Given the description of an element on the screen output the (x, y) to click on. 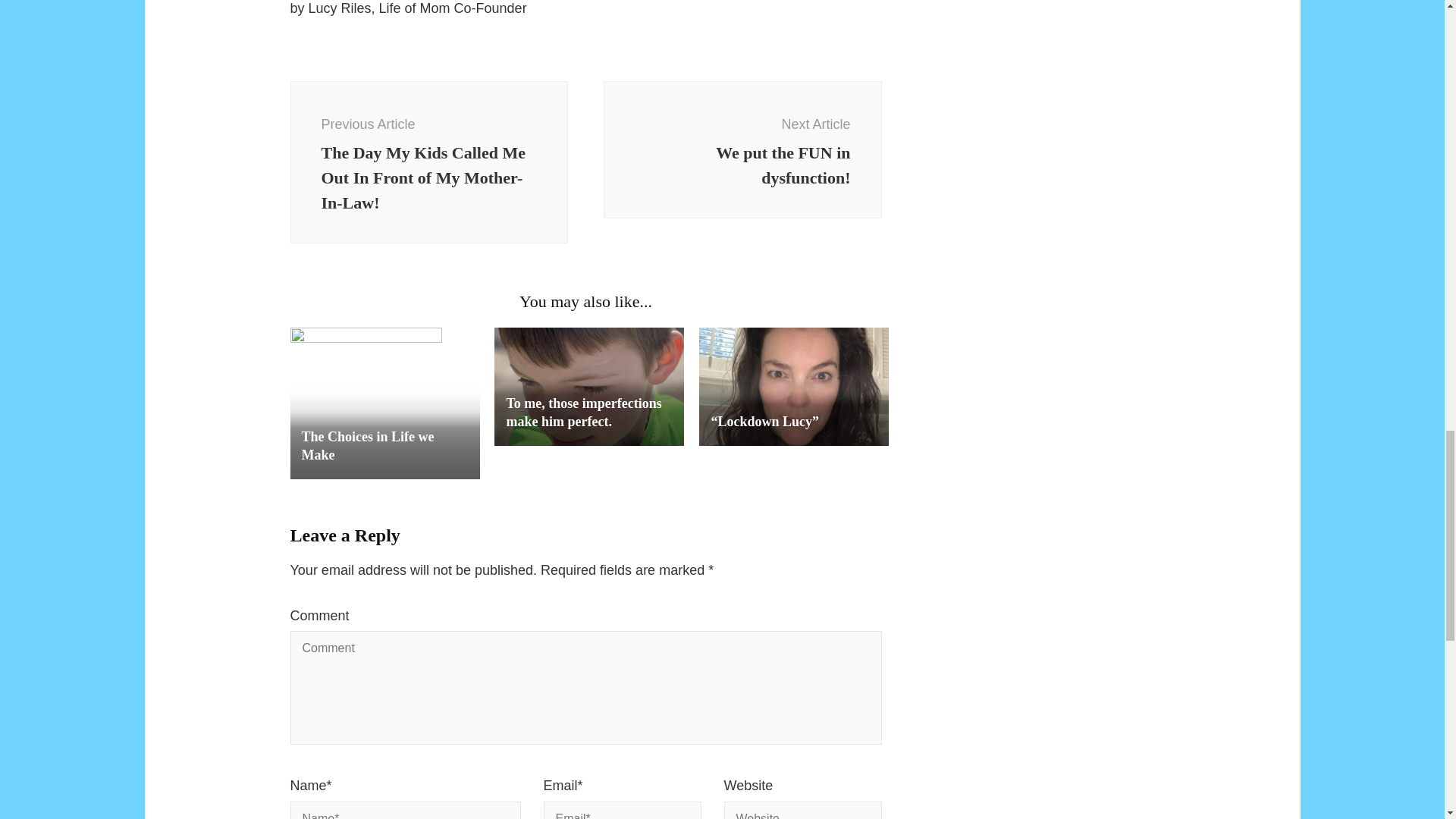
The Choices in Life we Make (367, 445)
To me, those imperfections make him perfect. (583, 412)
